Given the description of an element on the screen output the (x, y) to click on. 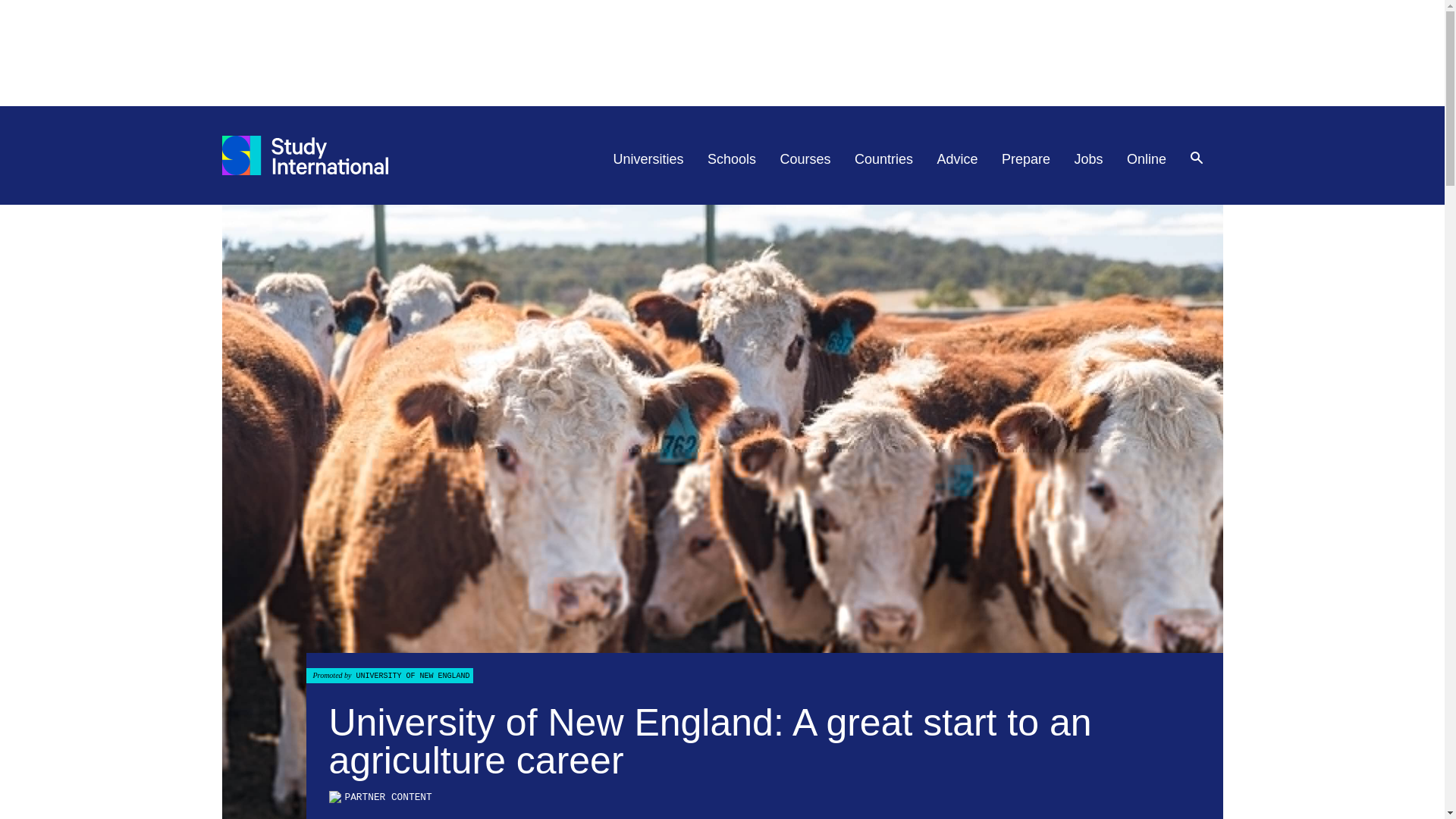
Jobs (1088, 159)
Schools (731, 159)
Online (1146, 159)
Courses (805, 159)
Advice (957, 159)
Universities (648, 159)
Prepare (1025, 159)
Countries (883, 159)
